Given the description of an element on the screen output the (x, y) to click on. 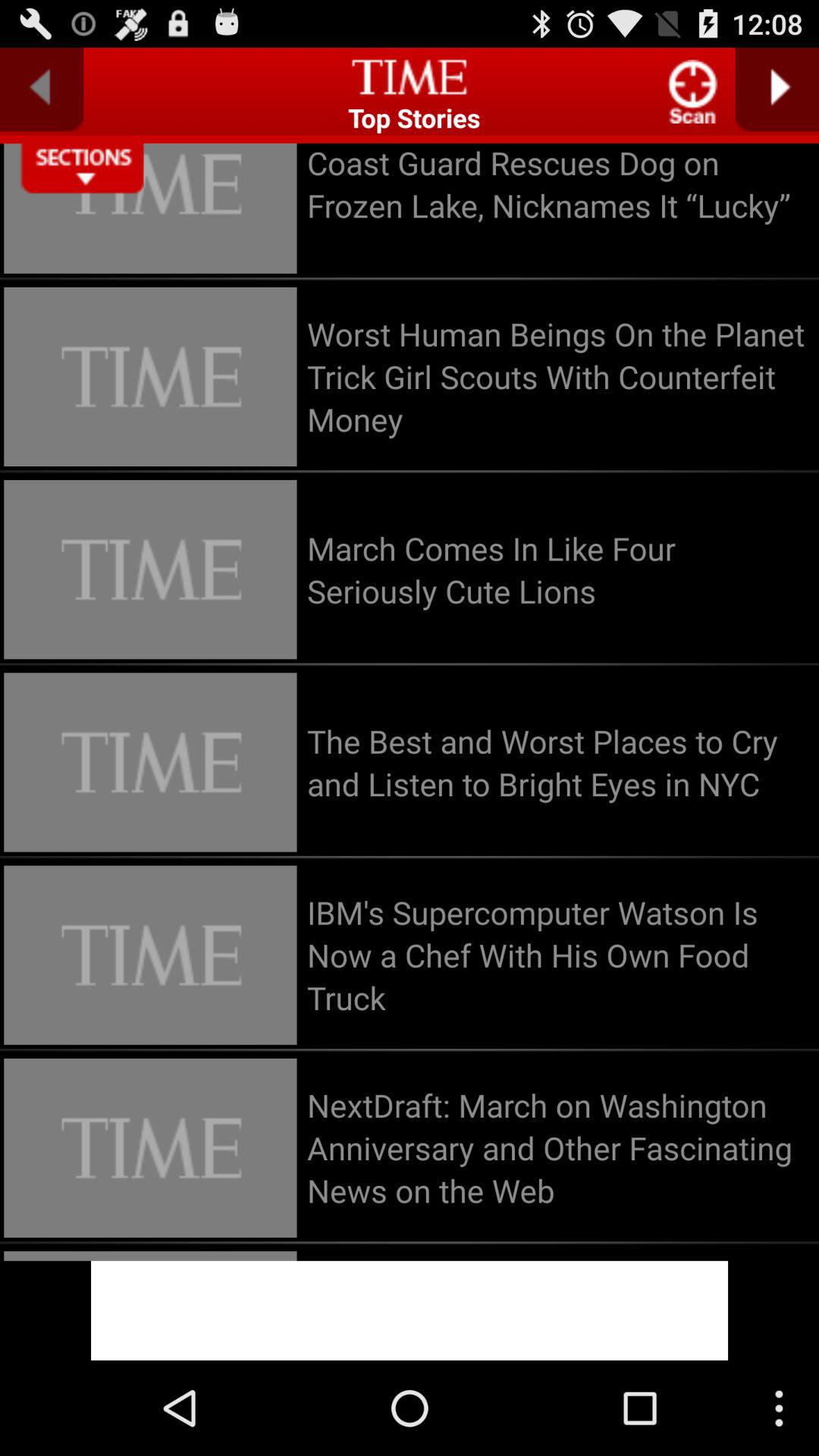
advance forward (777, 89)
